Given the description of an element on the screen output the (x, y) to click on. 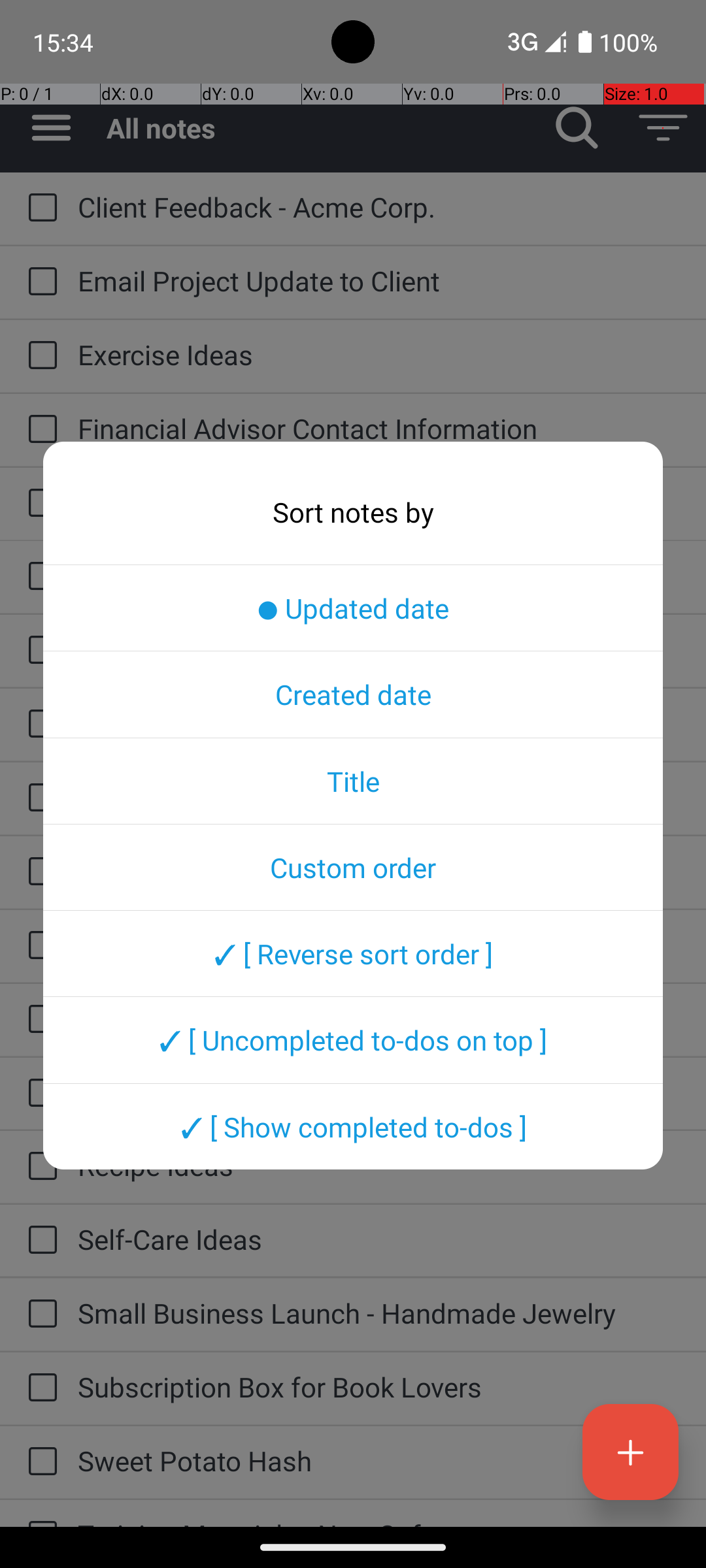
⬤ Updated date Element type: android.widget.TextView (352, 607)
Created date Element type: android.widget.TextView (352, 693)
Title Element type: android.widget.TextView (352, 780)
Custom order Element type: android.widget.TextView (352, 866)
✓ [ Reverse sort order ] Element type: android.widget.TextView (352, 953)
✓ [ Uncompleted to-dos on top ] Element type: android.widget.TextView (352, 1039)
✓ [ Show completed to-dos ] Element type: android.widget.TextView (352, 1126)
to-do: Client Feedback - Acme Corp. Element type: android.widget.CheckBox (38, 208)
Client Feedback - Acme Corp. Element type: android.widget.TextView (378, 206)
to-do: Email Project Update to Client Element type: android.widget.CheckBox (38, 282)
Email Project Update to Client Element type: android.widget.TextView (378, 280)
to-do: Exercise Ideas Element type: android.widget.CheckBox (38, 356)
Exercise Ideas Element type: android.widget.TextView (378, 354)
to-do: Financial Advisor Contact Information Element type: android.widget.CheckBox (38, 429)
Financial Advisor Contact Information Element type: android.widget.TextView (378, 427)
to-do: Financial News & Analysis Element type: android.widget.CheckBox (38, 503)
Financial News & Analysis Element type: android.widget.TextView (378, 501)
to-do: Grocery List Element type: android.widget.CheckBox (38, 576)
Grocery List Element type: android.widget.TextView (378, 574)
to-do: Health Routine Element type: android.widget.CheckBox (38, 650)
Health Routine Element type: android.widget.TextView (378, 648)
to-do: Home Security Checklist Element type: android.widget.CheckBox (38, 724)
Home Security Checklist Element type: android.widget.TextView (378, 722)
to-do: Interior Design Project - Living Room Makeover Element type: android.widget.CheckBox (38, 798)
Interior Design Project - Living Room Makeover Element type: android.widget.TextView (378, 796)
to-do: Meeting Agenda Element type: android.widget.CheckBox (38, 872)
Meeting Agenda Element type: android.widget.TextView (378, 870)
to-do: Music Album Recording - Indie Rock Band Element type: android.widget.CheckBox (38, 945)
Music Album Recording - Indie Rock Band Element type: android.widget.TextView (378, 944)
to-do: Password Ideas Element type: android.widget.CheckBox (38, 1019)
Password Ideas Element type: android.widget.TextView (378, 1017)
to-do: Project Kickoff Element type: android.widget.CheckBox (38, 1093)
Project Kickoff Element type: android.widget.TextView (378, 1091)
to-do: Recipe Ideas Element type: android.widget.CheckBox (38, 1166)
Recipe Ideas Element type: android.widget.TextView (378, 1164)
to-do: Self-Care Ideas Element type: android.widget.CheckBox (38, 1240)
Self-Care Ideas Element type: android.widget.TextView (378, 1238)
to-do: Small Business Launch - Handmade Jewelry Element type: android.widget.CheckBox (38, 1314)
Small Business Launch - Handmade Jewelry Element type: android.widget.TextView (378, 1312)
to-do: Subscription Box for Book Lovers Element type: android.widget.CheckBox (38, 1388)
Subscription Box for Book Lovers Element type: android.widget.TextView (378, 1386)
to-do: Sweet Potato Hash Element type: android.widget.CheckBox (38, 1462)
Sweet Potato Hash Element type: android.widget.TextView (378, 1460)
to-do: Training Materials - New Software Element type: android.widget.CheckBox (38, 1513)
Training Materials - New Software Element type: android.widget.TextView (378, 1520)
